Given the description of an element on the screen output the (x, y) to click on. 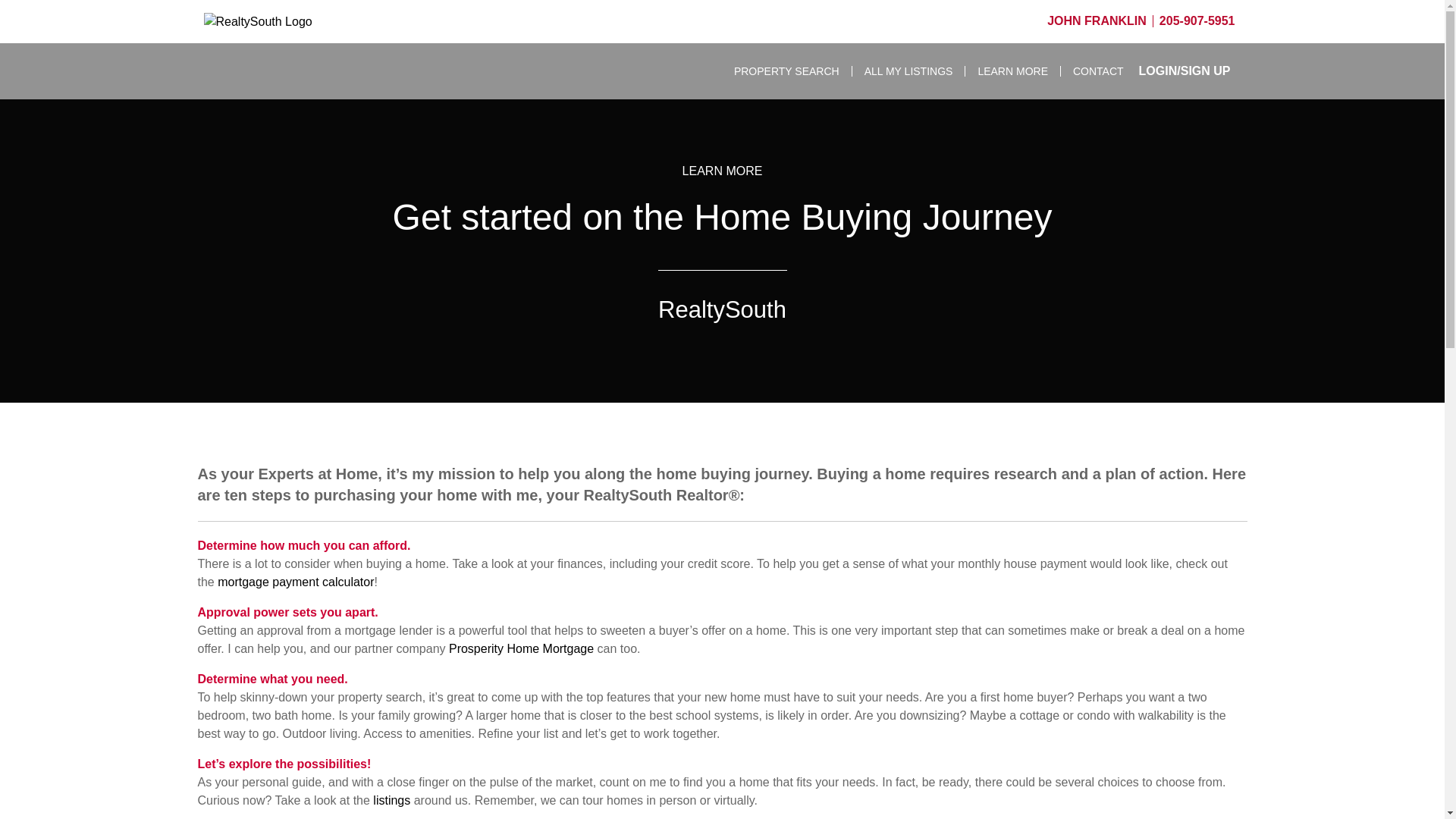
ALL MY LISTINGS (908, 71)
PROPERTY SEARCH (786, 71)
205-907-5951 (1196, 20)
mortgage payment calculator (295, 581)
LEARN MORE (1013, 71)
CONTACT (1092, 71)
RealtySouth Home Page (284, 21)
Prosperity Home Mortgage (521, 648)
listings (391, 799)
RealtySouth Logo (284, 22)
